Given the description of an element on the screen output the (x, y) to click on. 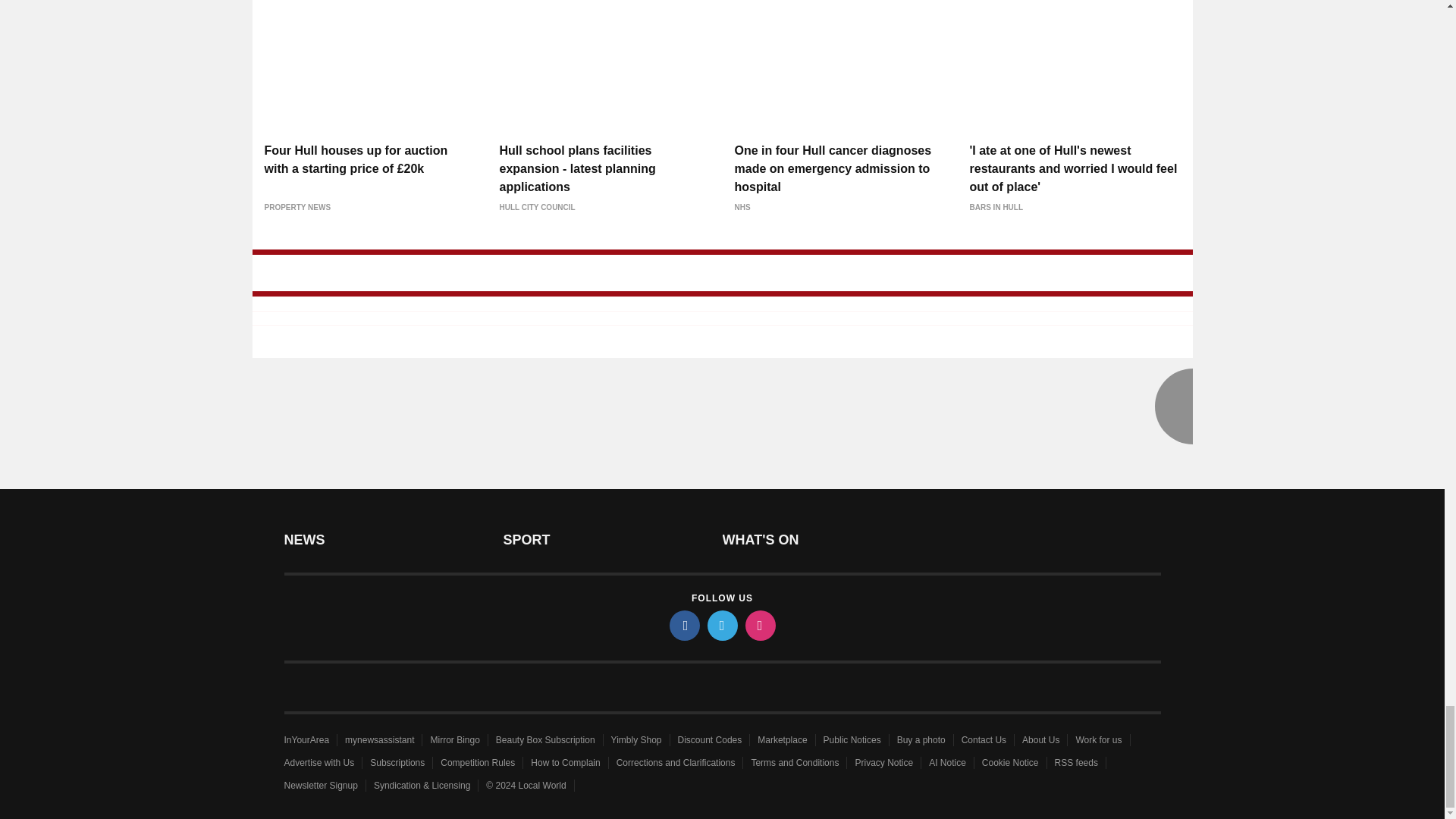
instagram (759, 625)
facebook (683, 625)
twitter (721, 625)
